Given the description of an element on the screen output the (x, y) to click on. 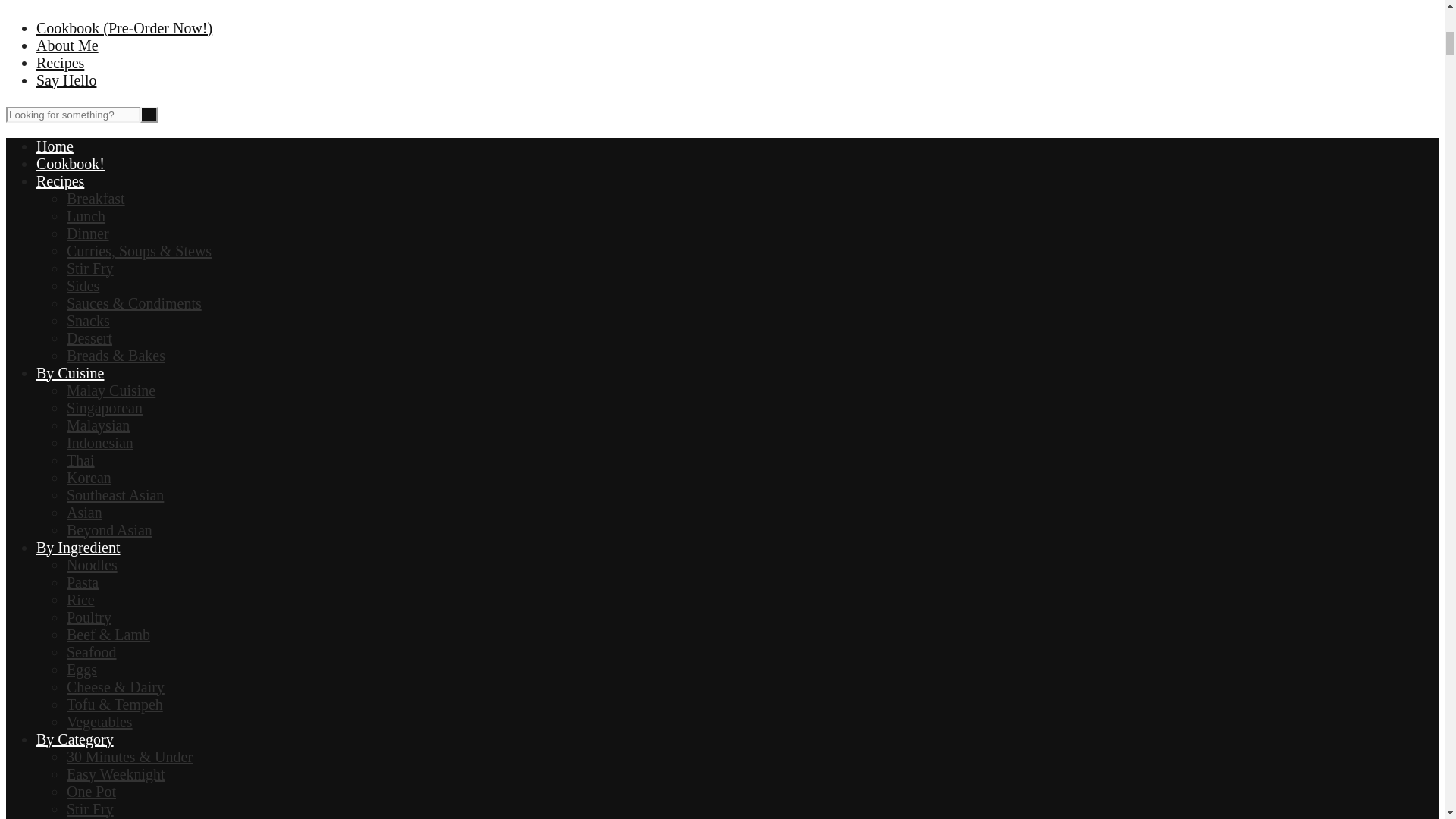
Sides (82, 285)
Lunch (85, 216)
Korean (89, 477)
Snacks (88, 320)
By Cuisine (69, 372)
Malay Cuisine (110, 390)
Dinner (87, 233)
Dessert (89, 338)
Home (55, 146)
Breakfast (95, 198)
